Given the description of an element on the screen output the (x, y) to click on. 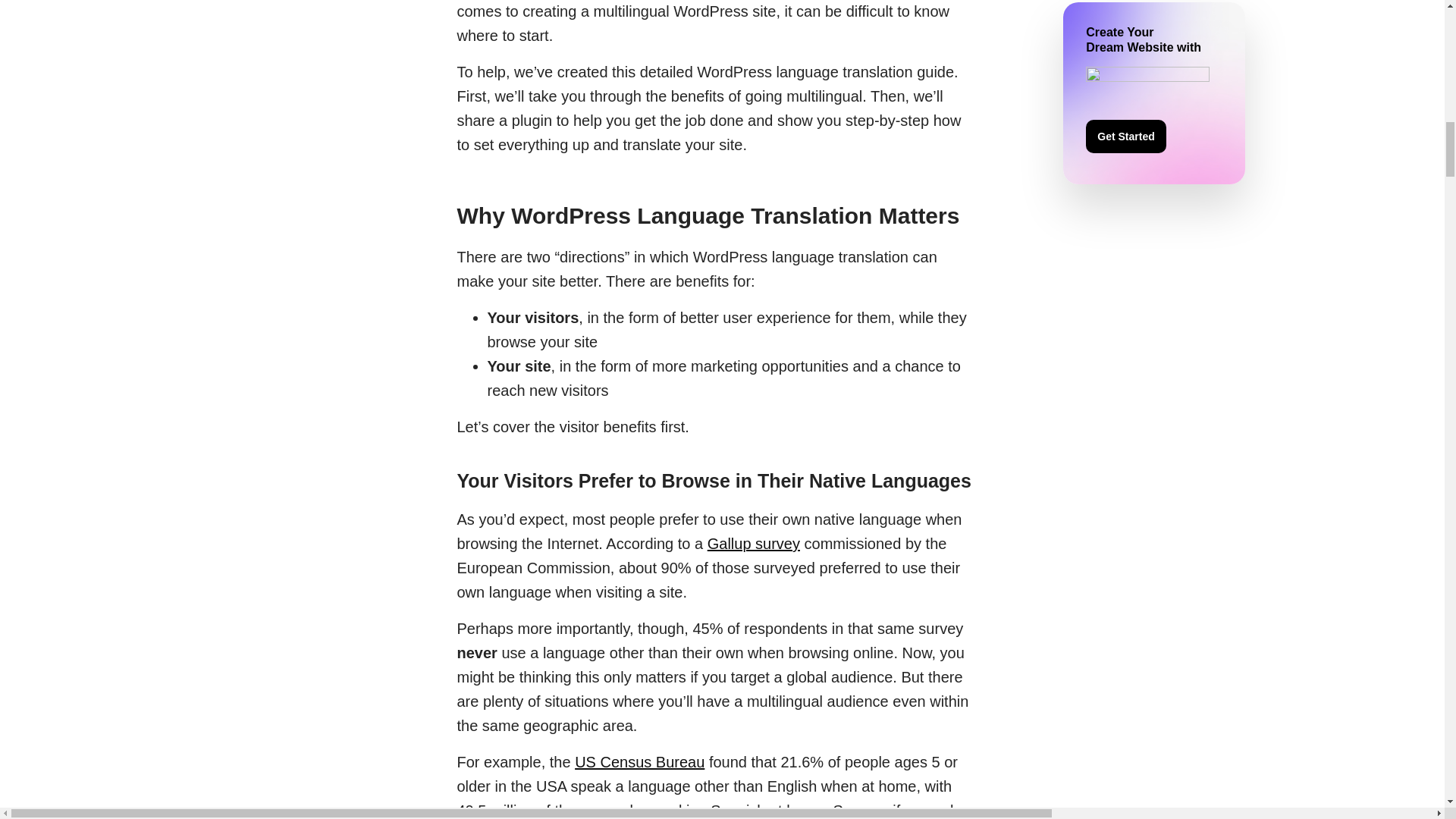
Get Started (1126, 136)
Gallup survey (753, 543)
US Census Bureau (639, 761)
